Given the description of an element on the screen output the (x, y) to click on. 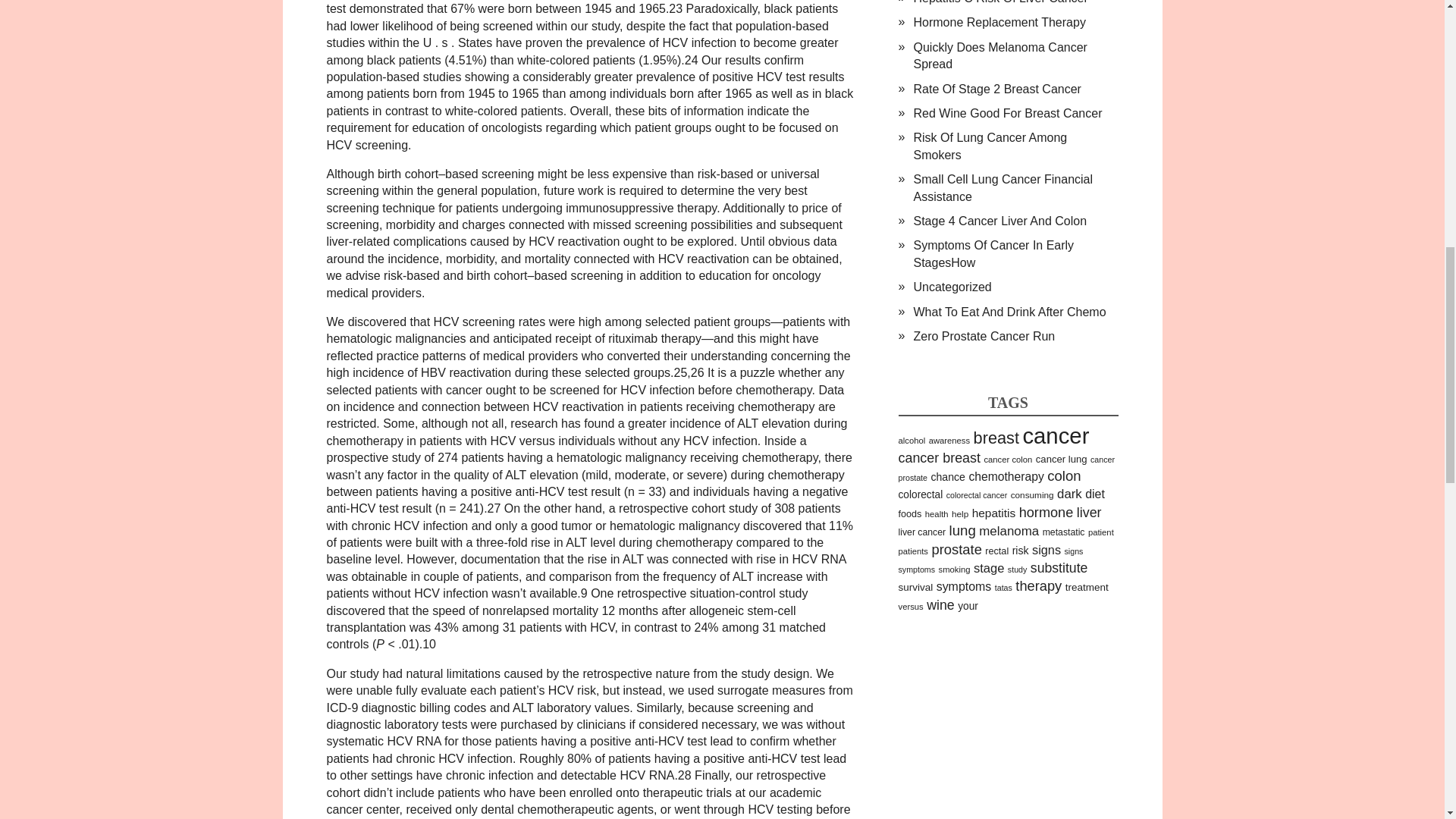
Hormone Replacement Therapy (998, 21)
Rate Of Stage 2 Breast Cancer (996, 88)
Hepatitis C Risk Of Liver Cancer (999, 2)
Quickly Does Melanoma Cancer Spread (999, 55)
